Given the description of an element on the screen output the (x, y) to click on. 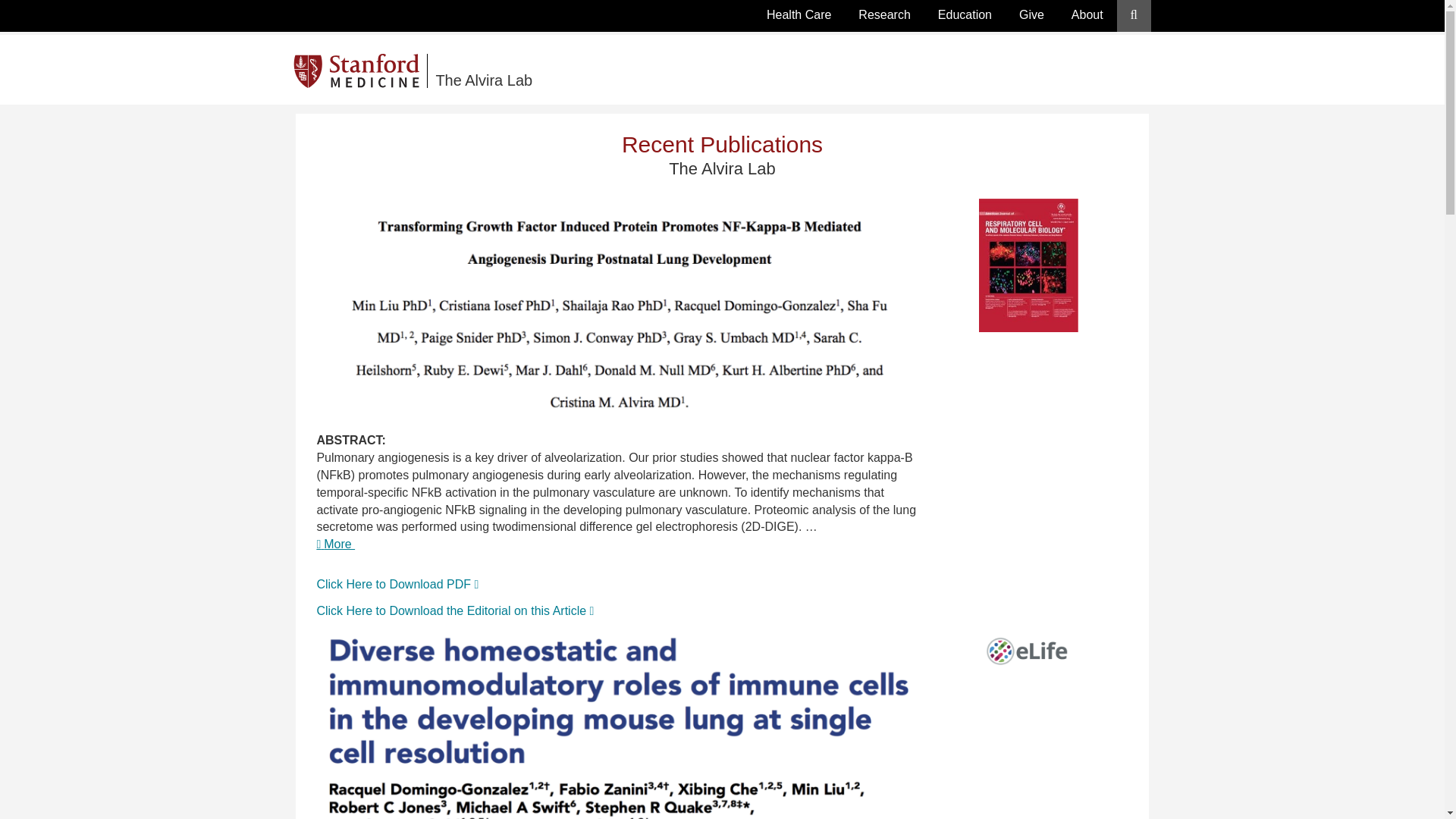
eLife title  (617, 724)
eLife  (1028, 655)
Research (883, 15)
Stanford Medicine (361, 70)
Health Care (798, 15)
Red journal title  (617, 306)
The Alvira Lab (616, 71)
